Given the description of an element on the screen output the (x, y) to click on. 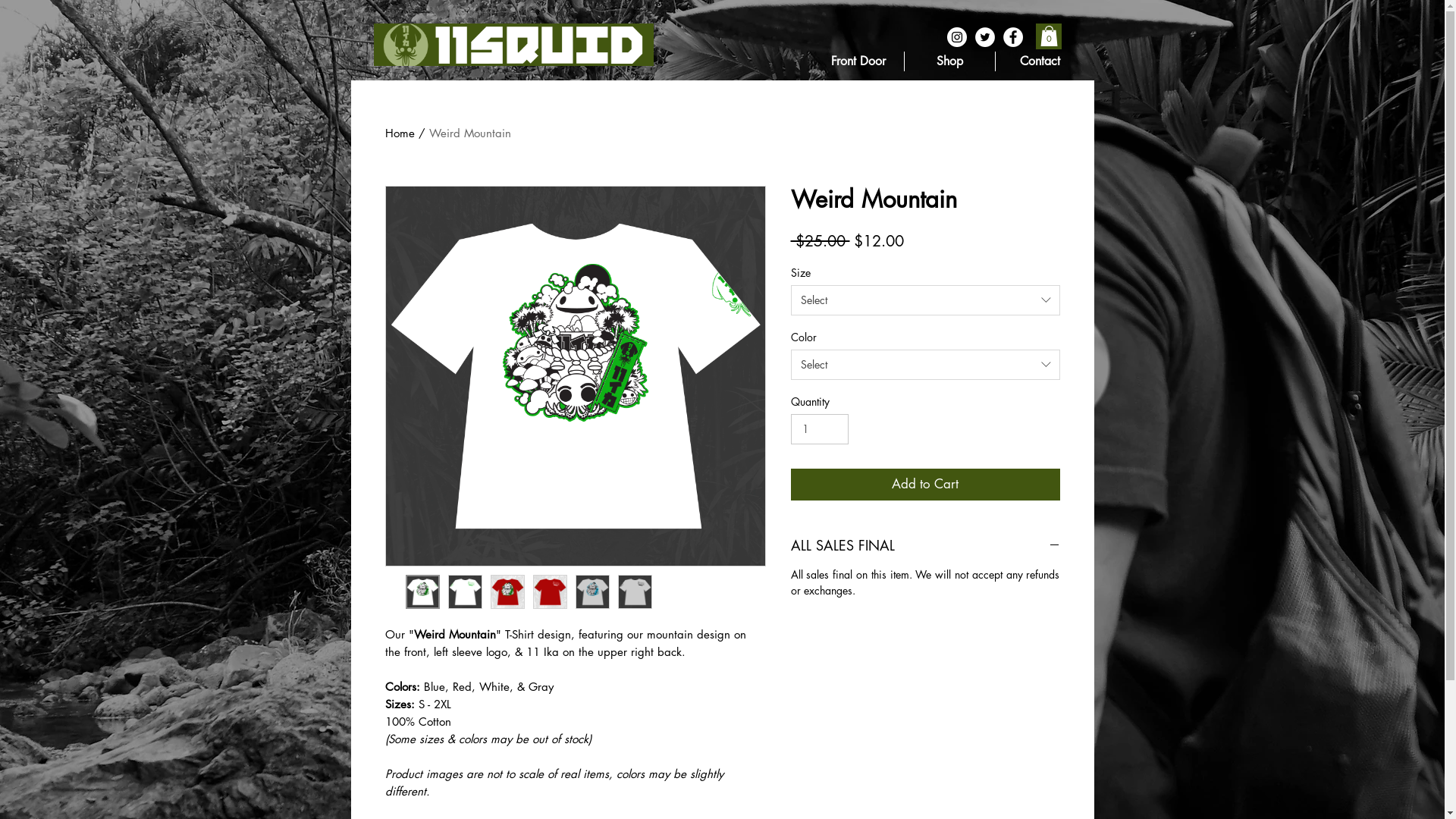
ALL SALES FINAL Element type: text (924, 544)
Front Door Element type: text (857, 61)
Front Door Element type: text (410, 132)
Contact Element type: text (1039, 61)
Shop Element type: text (948, 61)
Add to Cart Element type: text (924, 484)
Select Element type: text (924, 364)
Select Element type: text (924, 300)
0 Element type: text (1048, 35)
